Given the description of an element on the screen output the (x, y) to click on. 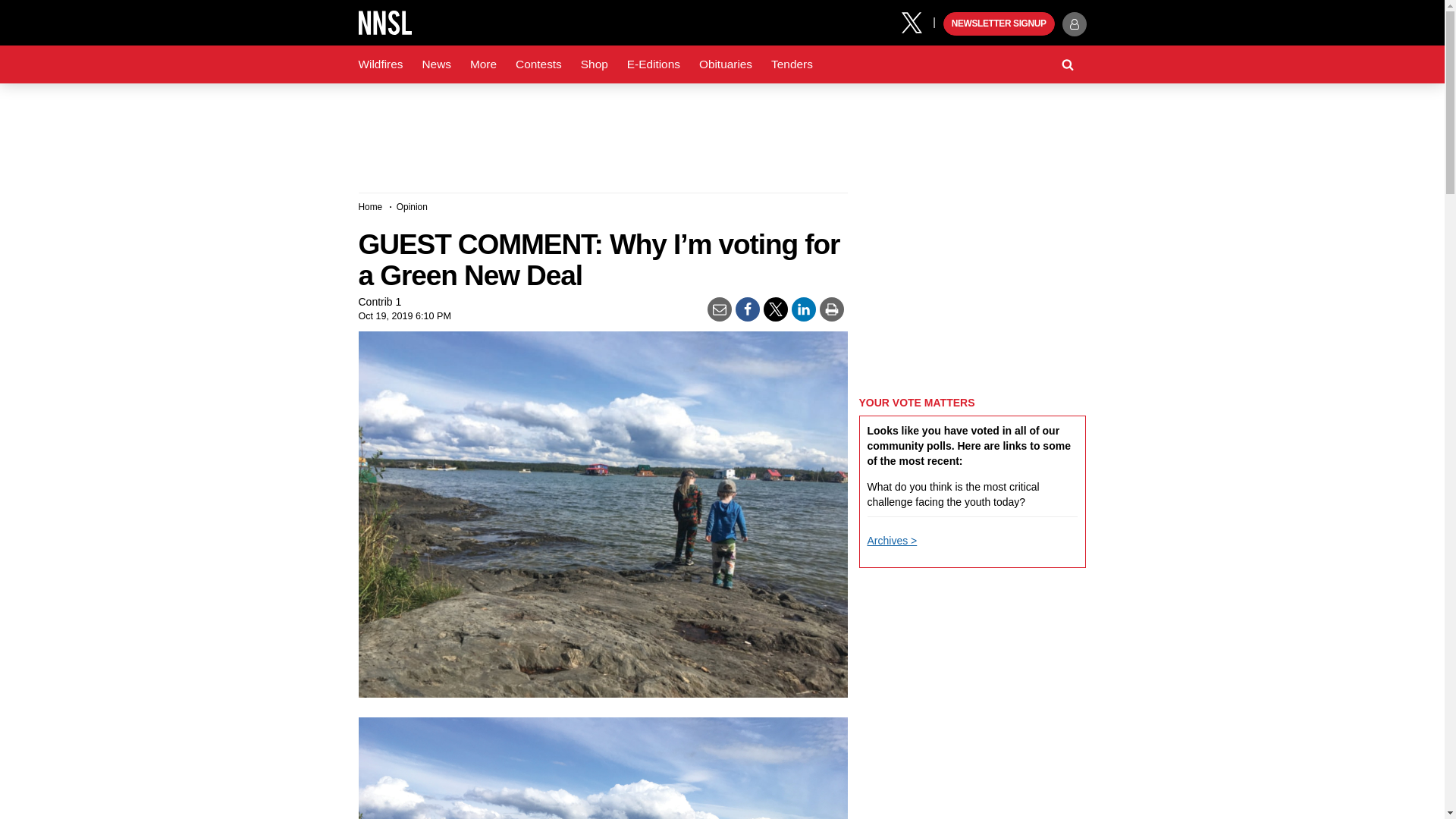
X (917, 21)
Wildfires (380, 64)
Tenders (791, 64)
E-Editions (653, 64)
NEWSLETTER SIGNUP (998, 24)
Obituaries (725, 64)
